Given the description of an element on the screen output the (x, y) to click on. 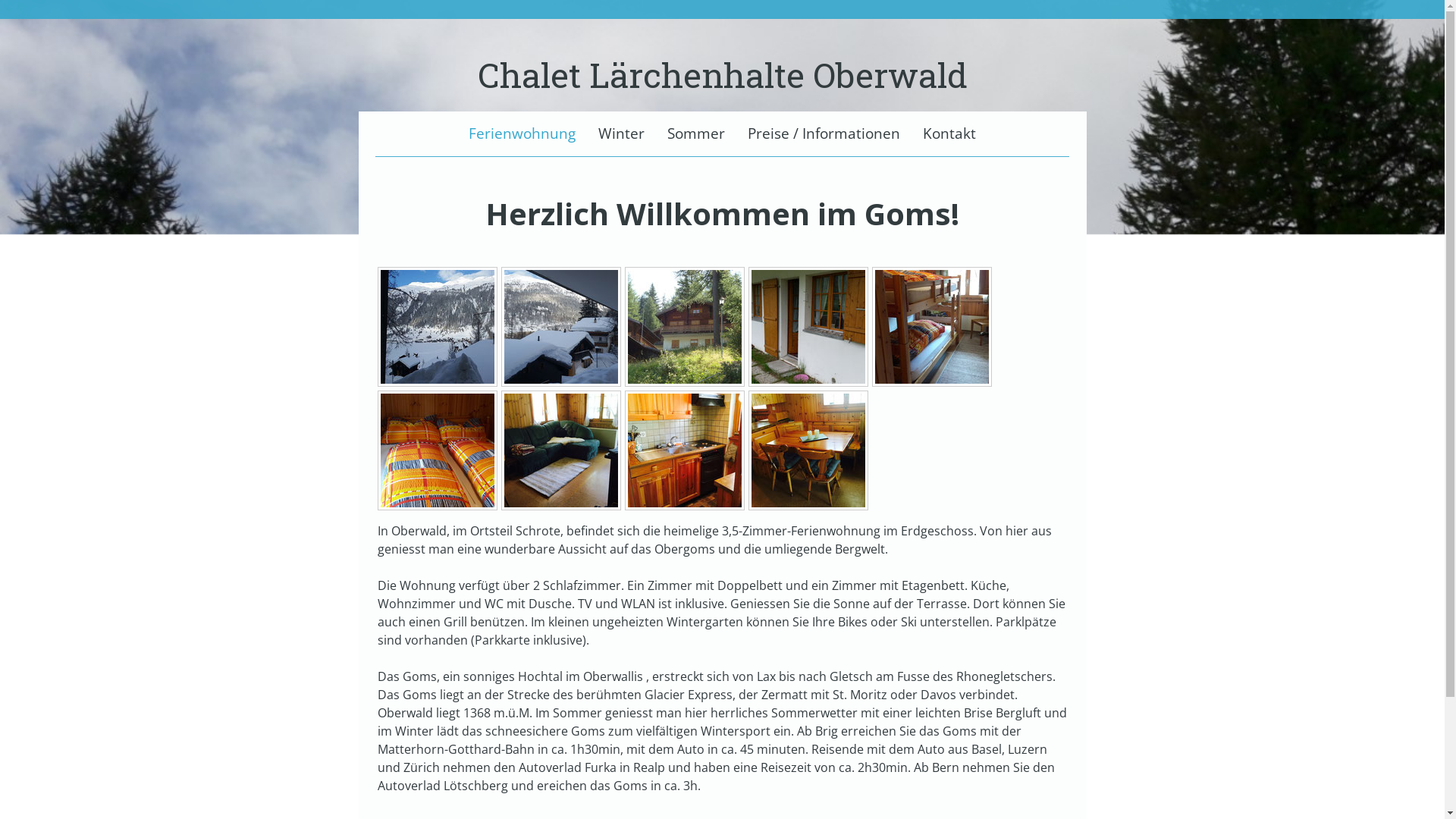
Sommer Element type: text (695, 133)
Kontakt Element type: text (949, 133)
Winter Element type: text (620, 133)
Preise / Informationen Element type: text (823, 133)
Ferienwohnung Element type: text (521, 133)
